Given the description of an element on the screen output the (x, y) to click on. 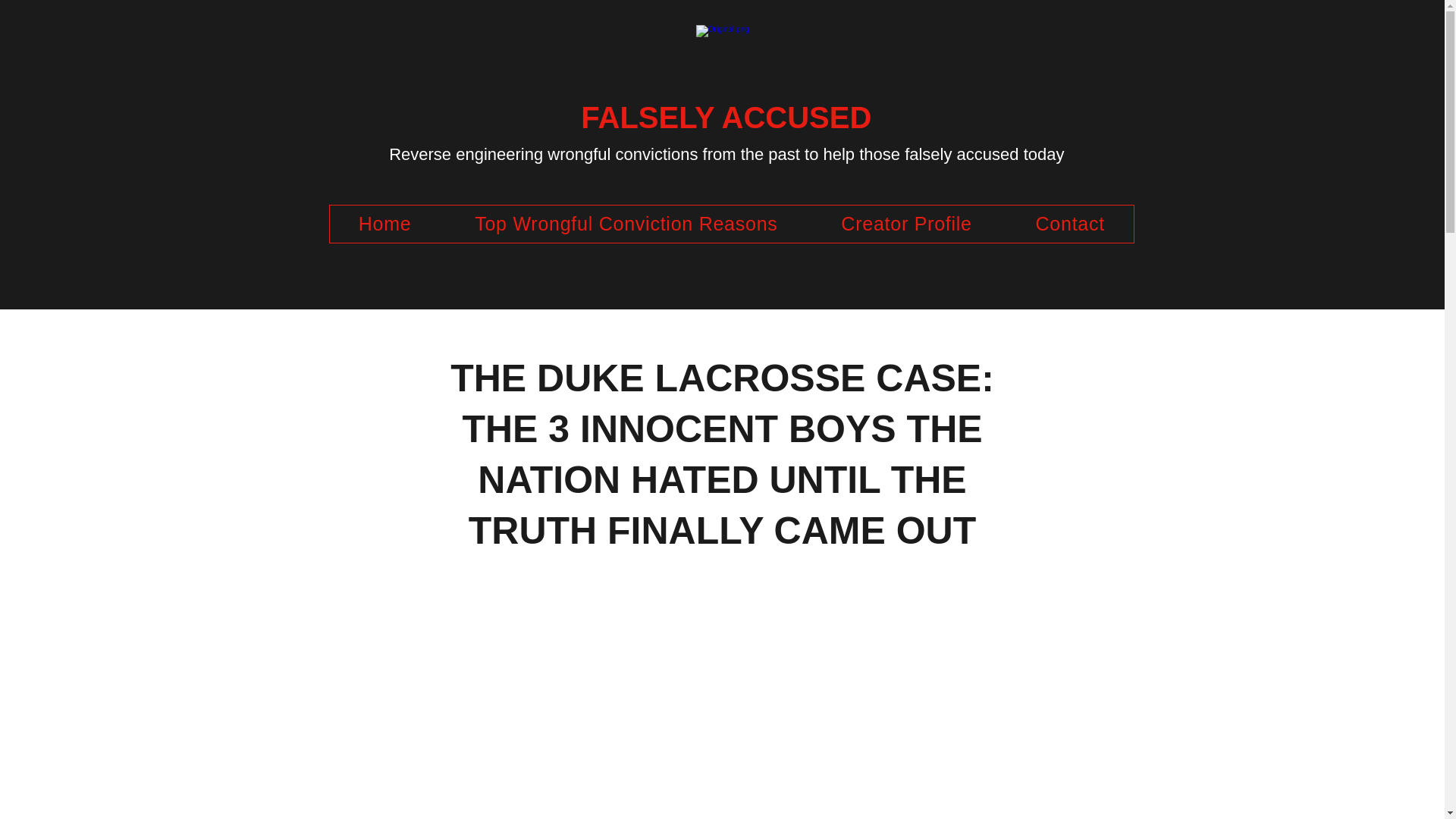
Contact (1070, 223)
Home (384, 223)
Top Wrongful Conviction Reasons (625, 223)
Creator Profile (906, 223)
